Given the description of an element on the screen output the (x, y) to click on. 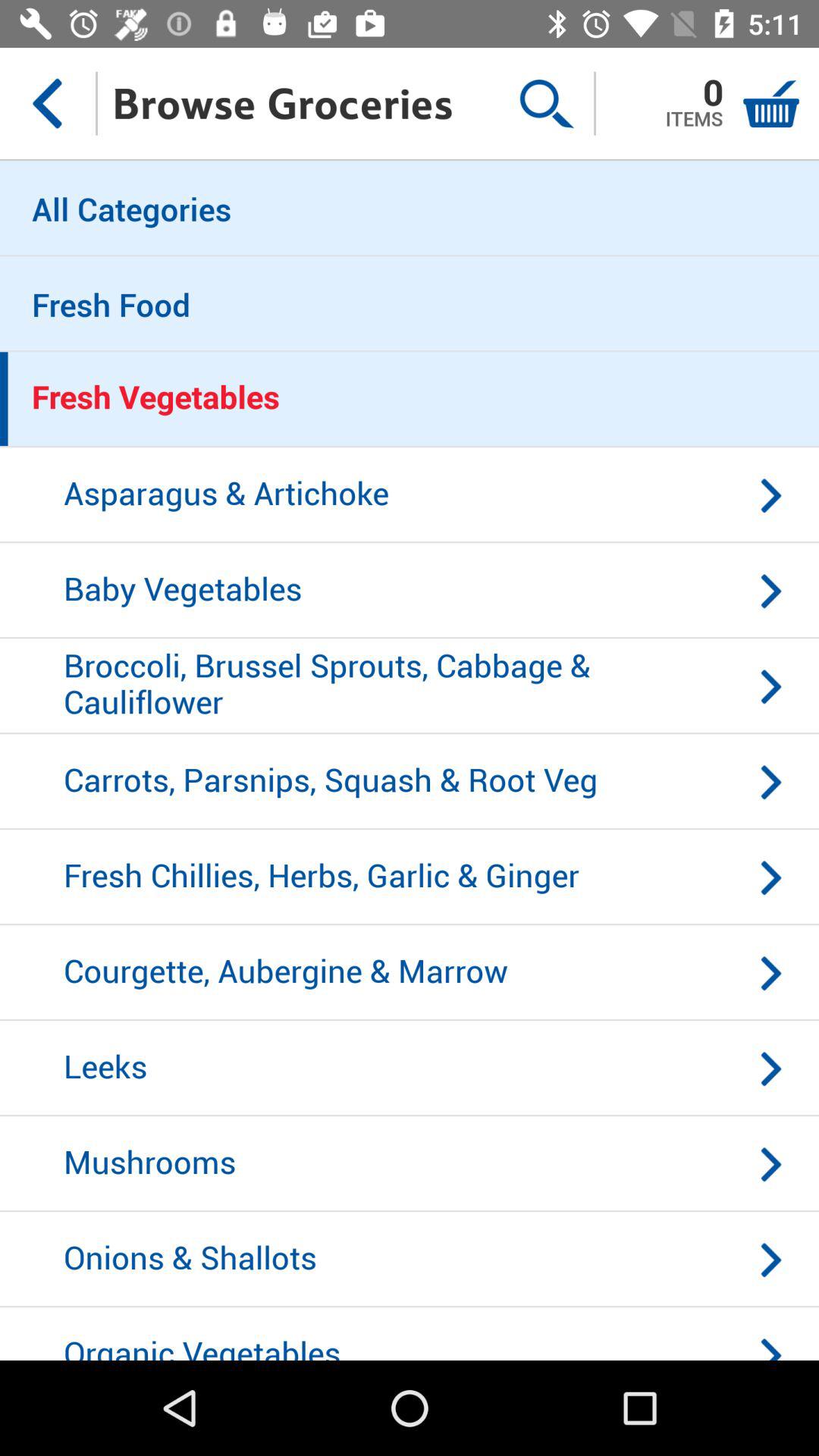
flip to leeks (409, 1068)
